Given the description of an element on the screen output the (x, y) to click on. 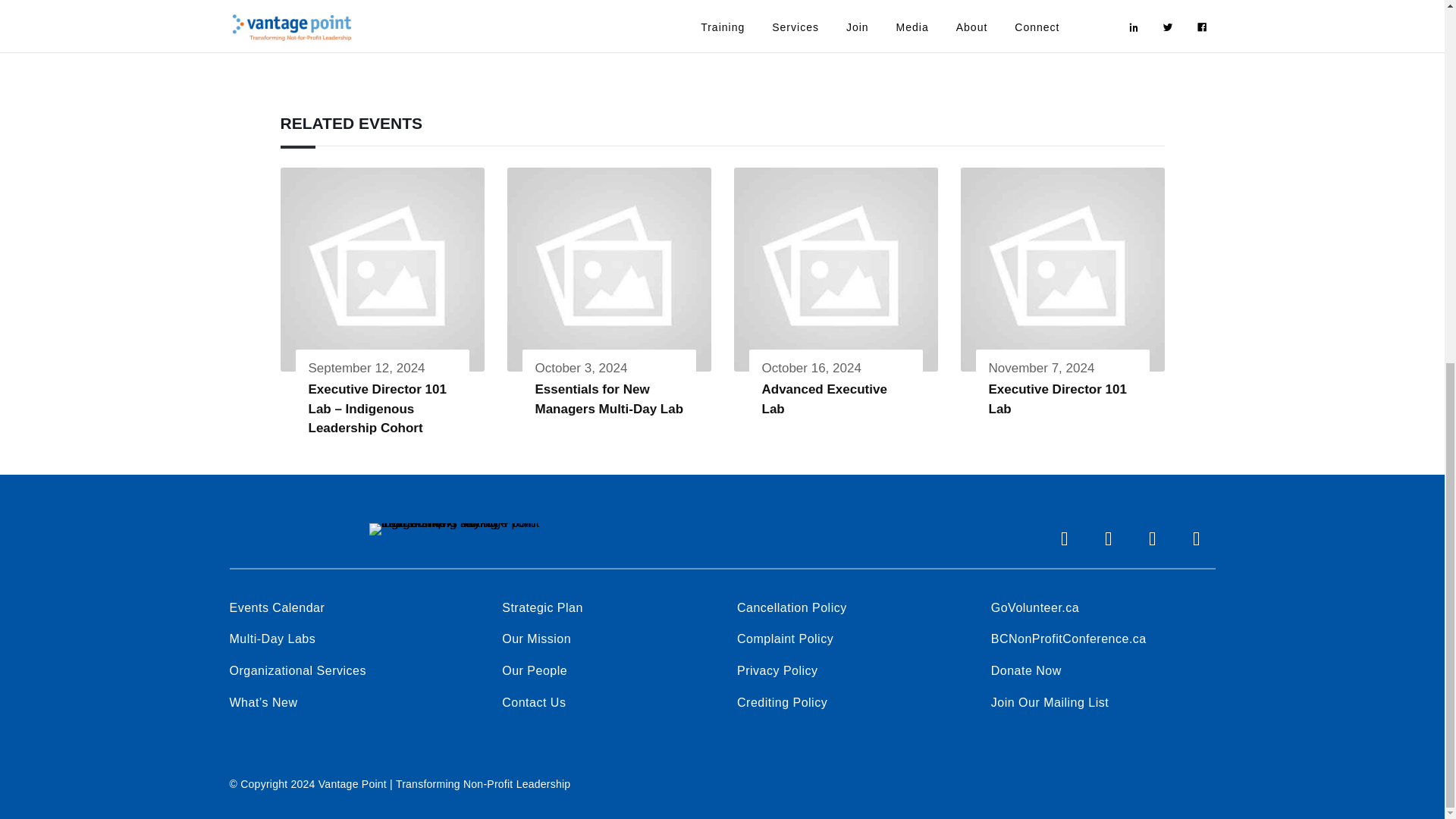
Tweet (1005, 6)
Share on Facebook (971, 6)
Follow on Facebook (1064, 538)
Follow on LinkedIn (1151, 538)
Linkedin (1039, 6)
Follow on Instagram (1195, 538)
Email (1073, 6)
Follow on X (1107, 538)
